Given the description of an element on the screen output the (x, y) to click on. 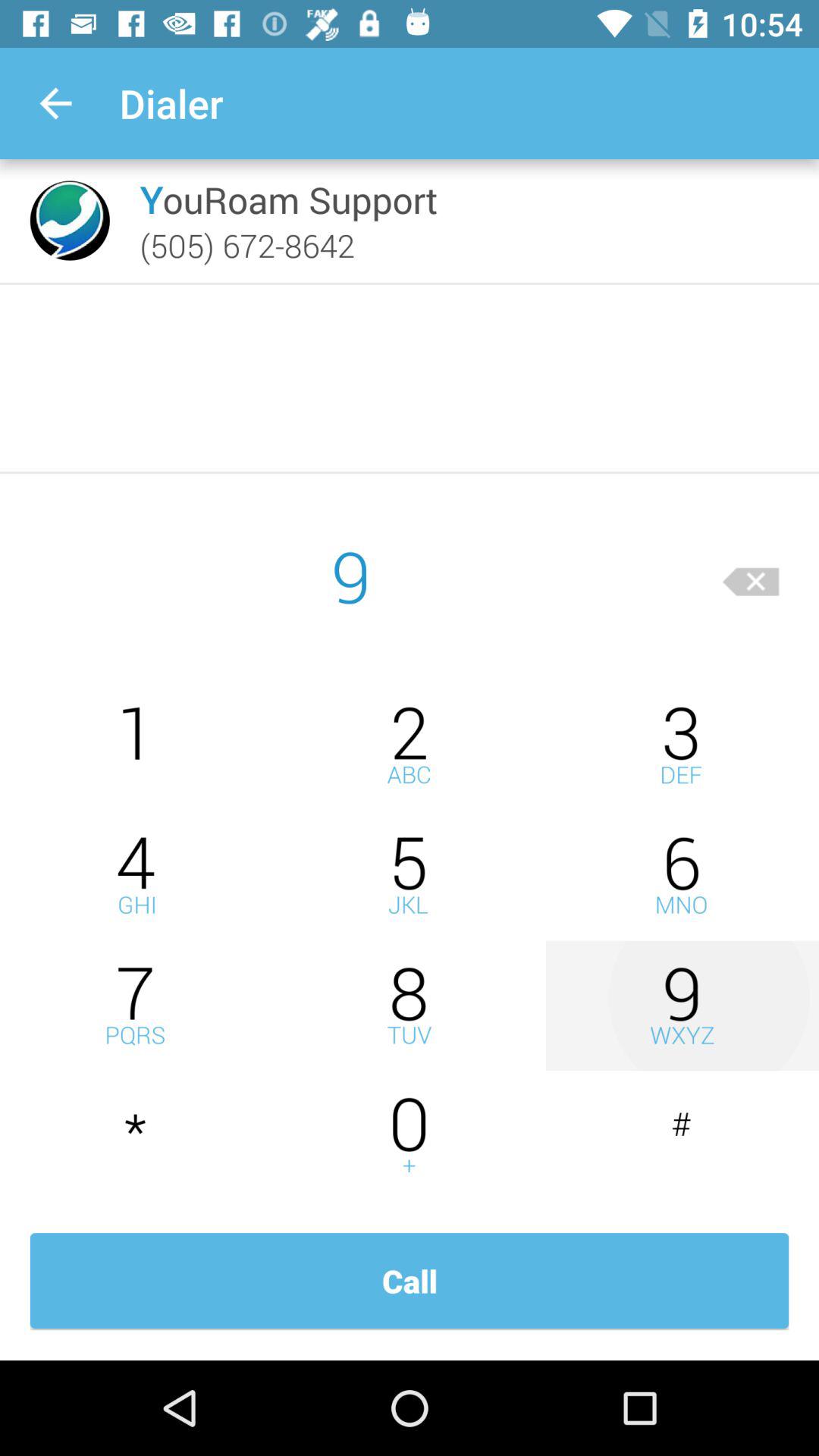
number 3 in dialpad (682, 745)
